Given the description of an element on the screen output the (x, y) to click on. 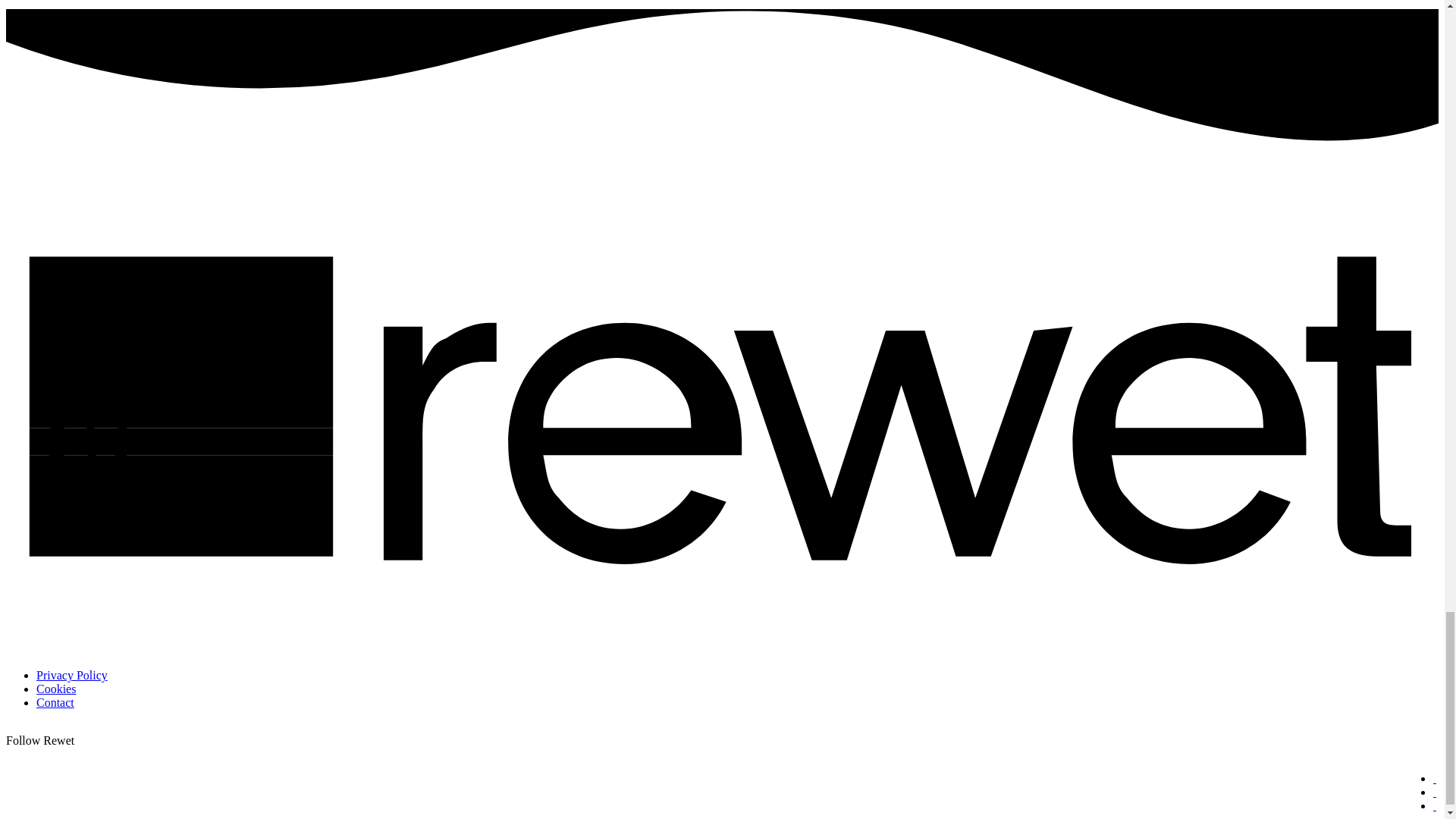
Privacy Policy (71, 675)
Cookies (55, 688)
Contact (55, 702)
